Given the description of an element on the screen output the (x, y) to click on. 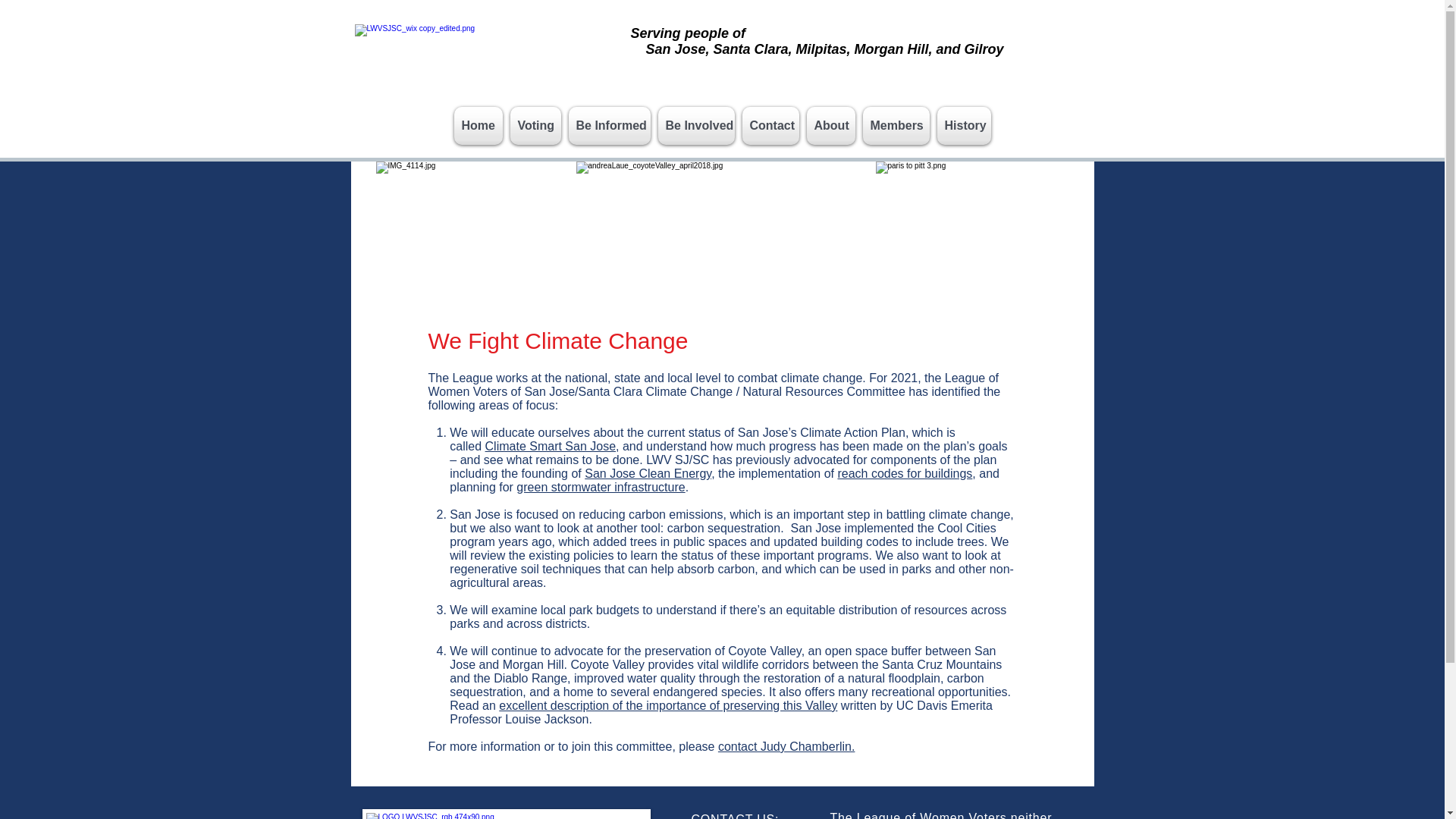
green stormwater infrastructure (600, 486)
contact Judy Chamberlin. (786, 746)
Climate Smart San Jose (549, 445)
reach codes for buildings (904, 472)
Home (478, 125)
San Jose Clean Energy (648, 472)
Members (896, 125)
